Given the description of an element on the screen output the (x, y) to click on. 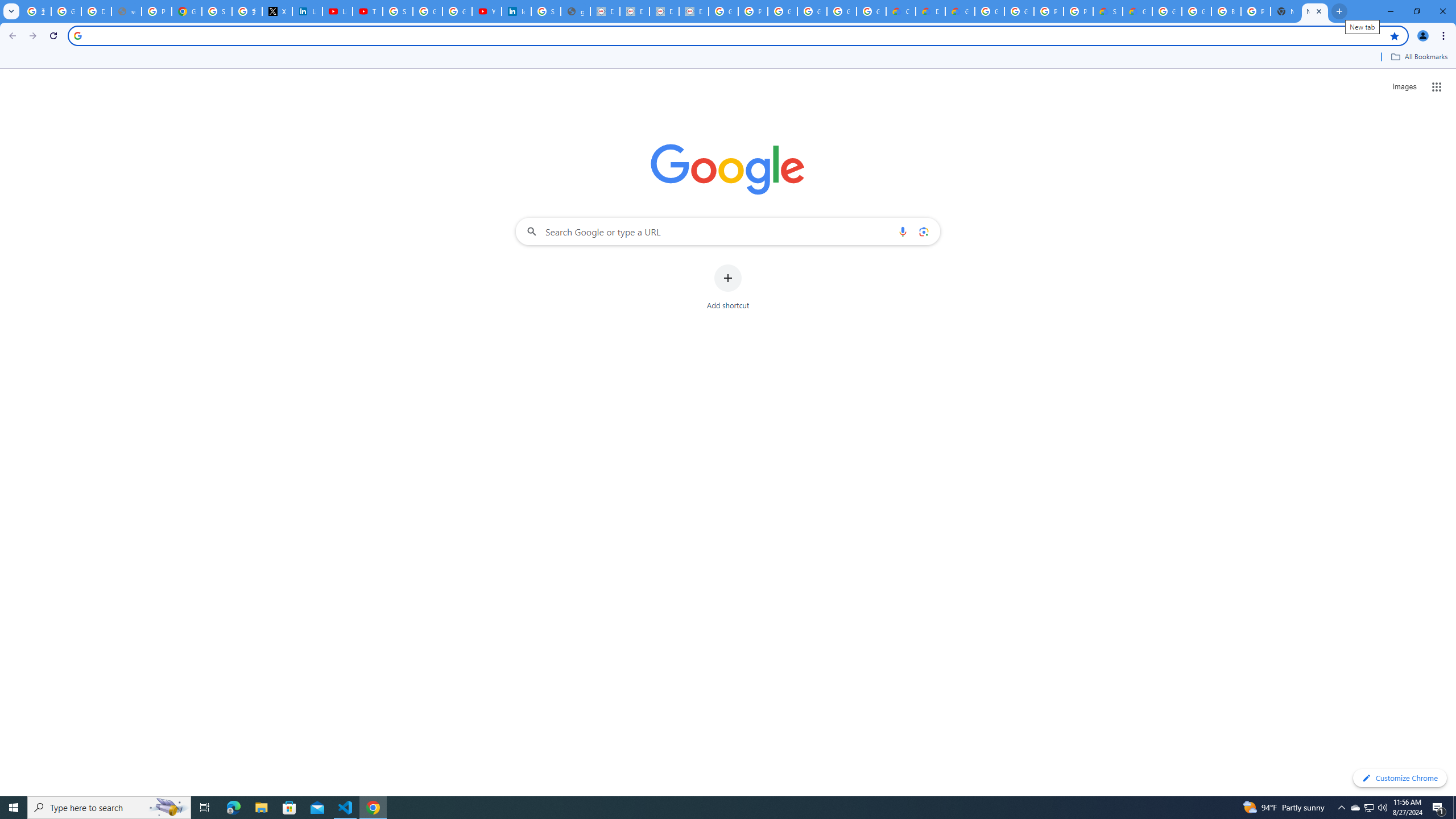
Data Privacy Framework (634, 11)
LinkedIn Privacy Policy (306, 11)
Gemini for Business and Developers | Google Cloud (959, 11)
google_privacy_policy_en.pdf (575, 11)
Sign in - Google Accounts (545, 11)
All Bookmarks (1418, 56)
LinkedIn - YouTube (337, 11)
Google Cloud Platform (1018, 11)
